Given the description of an element on the screen output the (x, y) to click on. 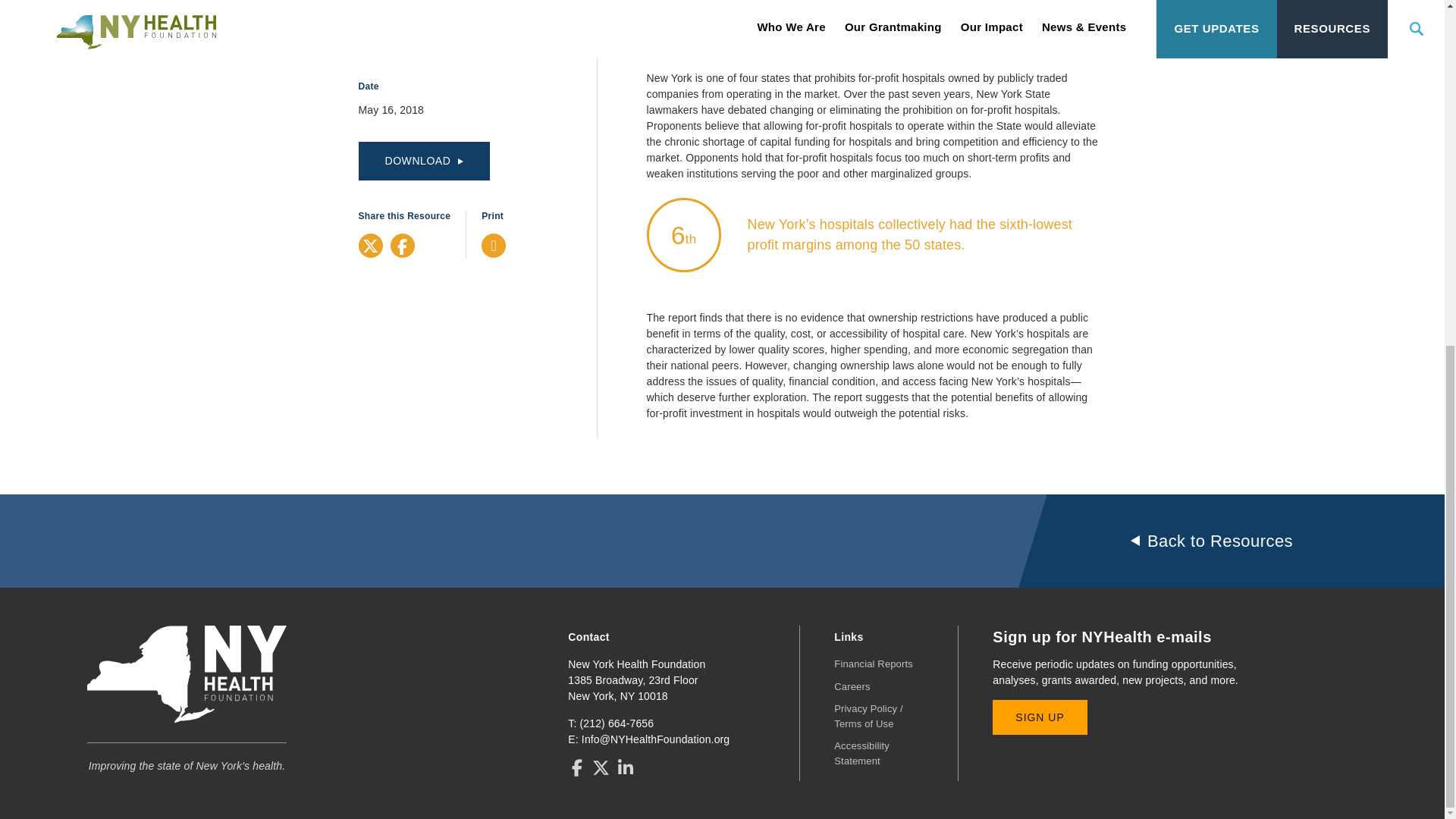
Accessibility Statement (861, 753)
Financial Reports (873, 663)
Twitter (370, 245)
FB (402, 246)
Careers (851, 686)
Tweet about this on Twitter (369, 245)
SIGN UP (1039, 717)
DOWNLOAD (423, 160)
Share to Facebook (401, 245)
